Given the description of an element on the screen output the (x, y) to click on. 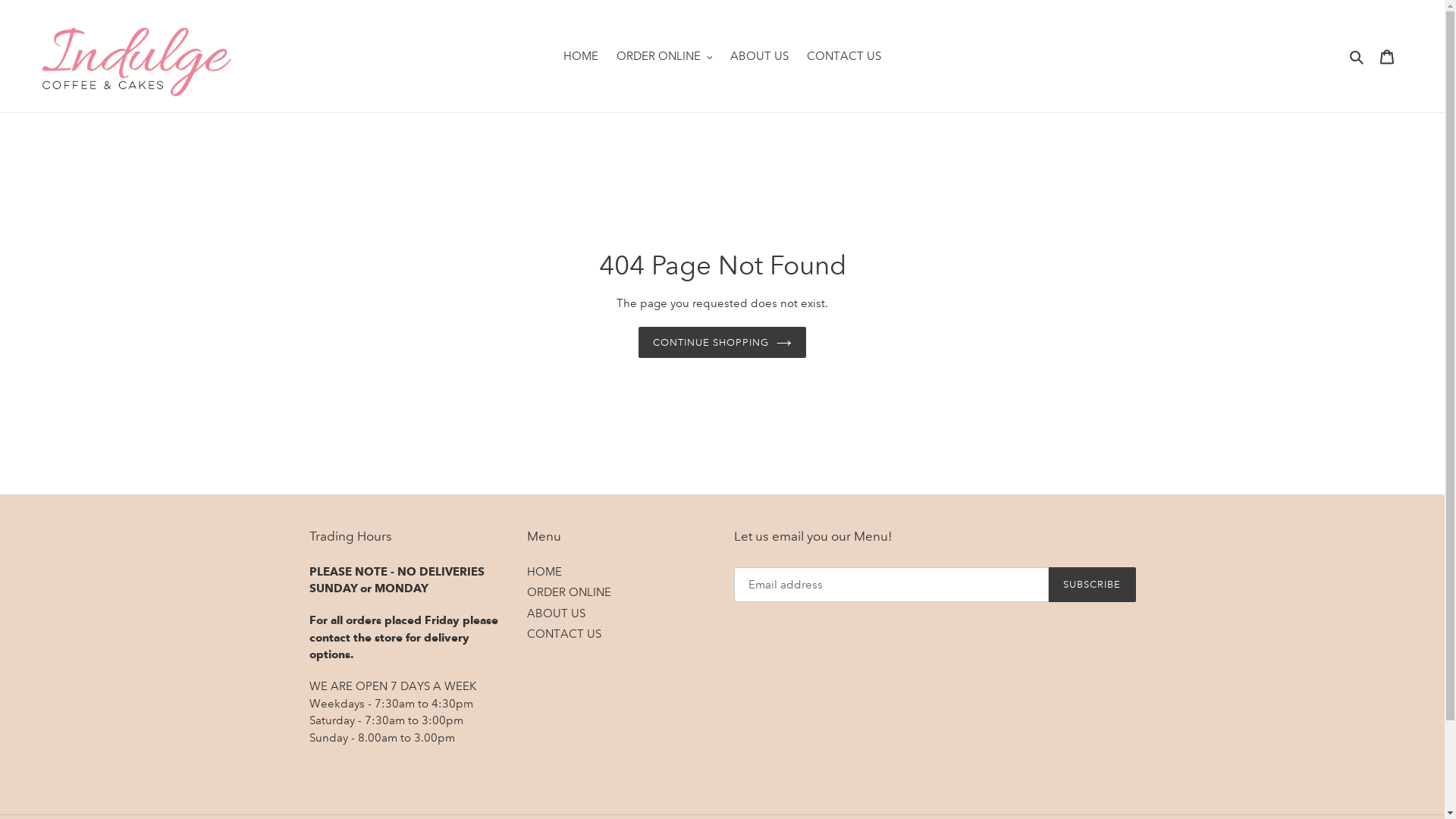
CONTINUE SHOPPING Element type: text (722, 341)
SUBSCRIBE Element type: text (1091, 583)
CONTACT US Element type: text (843, 56)
HOME Element type: text (544, 570)
ORDER ONLINE Element type: text (569, 592)
CONTACT US Element type: text (564, 633)
ABOUT US Element type: text (759, 56)
ABOUT US Element type: text (556, 612)
ORDER ONLINE Element type: text (664, 56)
HOME Element type: text (580, 56)
Search Element type: text (1357, 56)
Cart Element type: text (1386, 56)
